Given the description of an element on the screen output the (x, y) to click on. 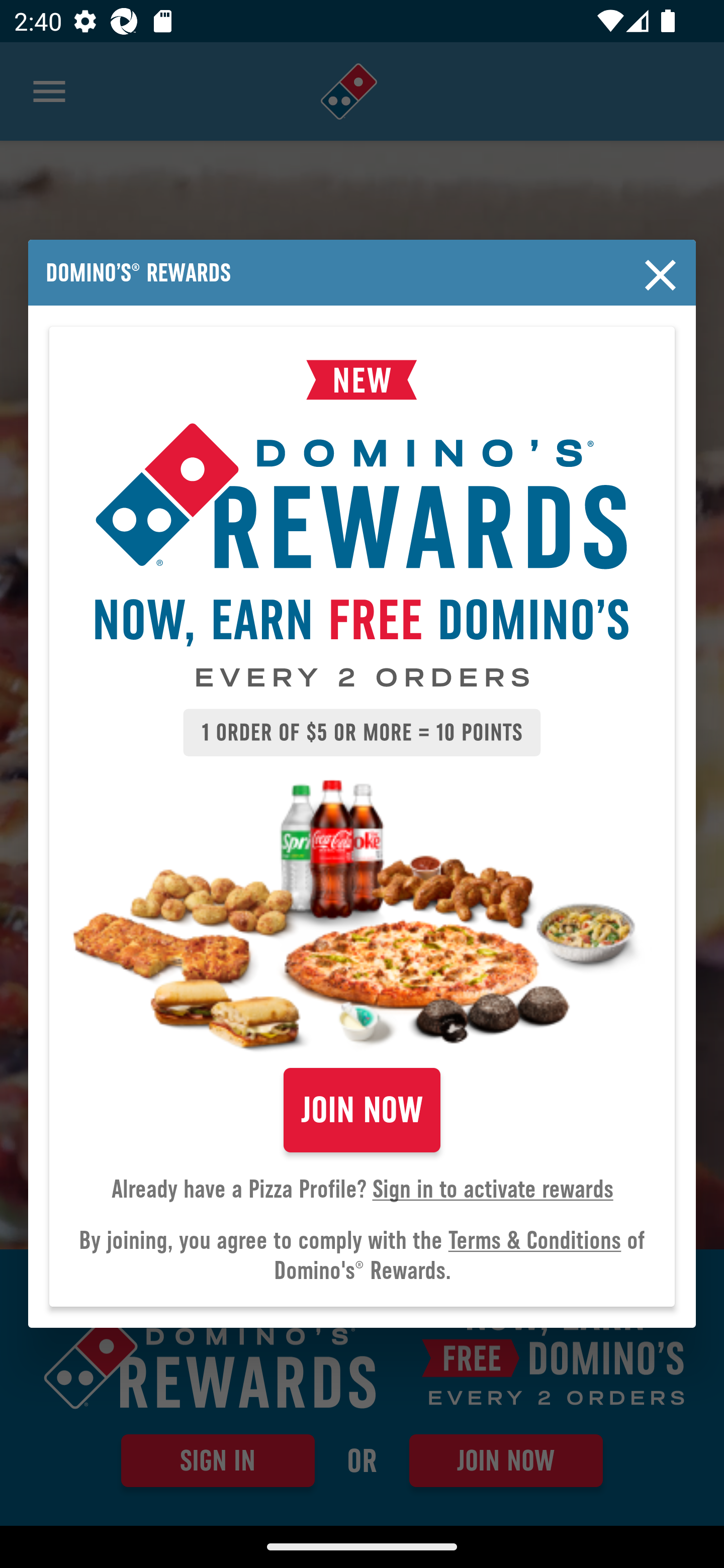
Close (660, 275)
JOIN NOW (361, 1109)
